Given the description of an element on the screen output the (x, y) to click on. 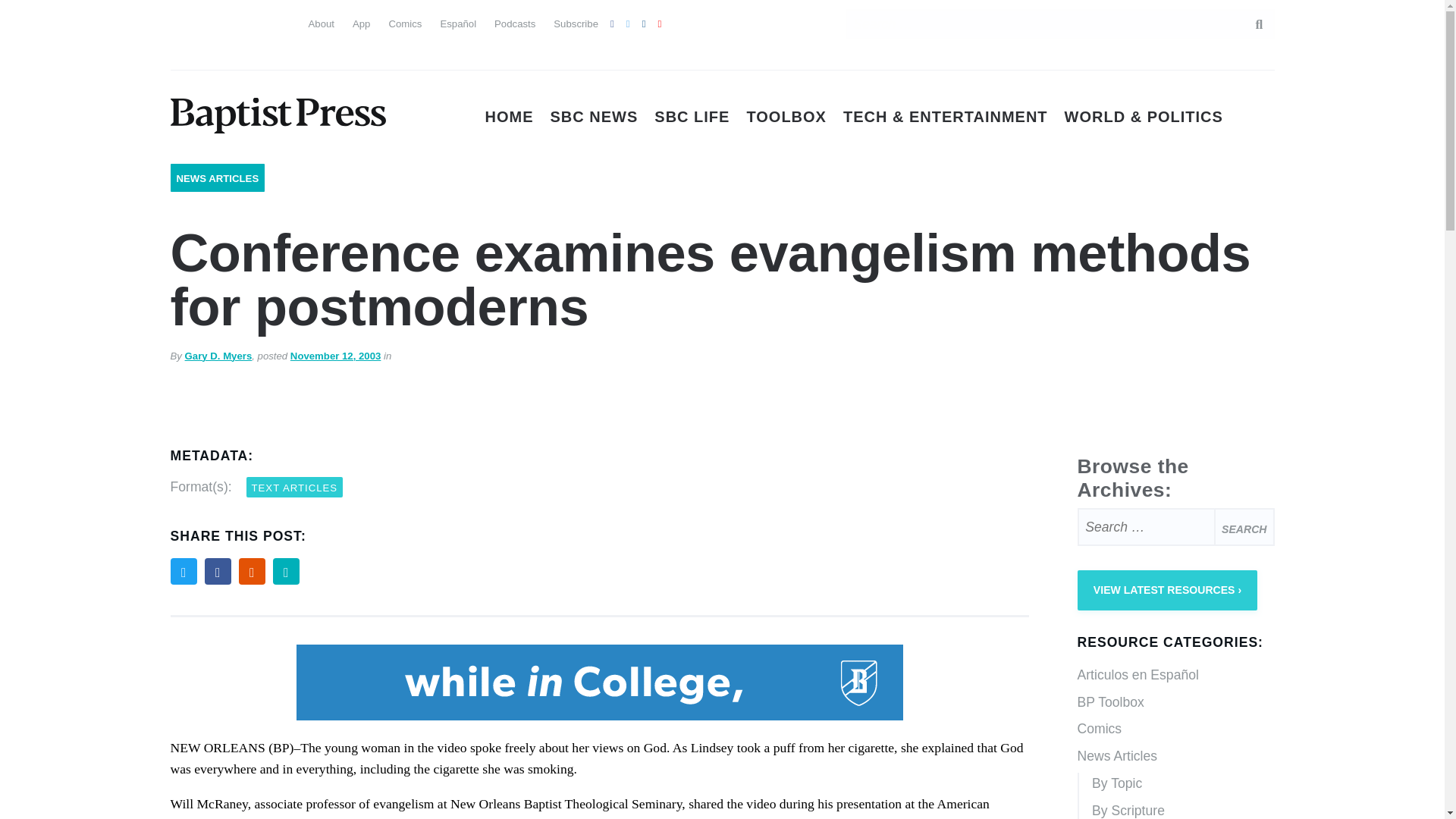
TOOLBOX (786, 116)
November 12, 2003 (335, 355)
Search (1244, 526)
Search (1251, 24)
French (263, 21)
TEXT ARTICLES (294, 486)
VIEW LATEST RESOURCES (1167, 590)
Gary D. Myers (217, 355)
English (182, 21)
NEWS ARTICLES (217, 178)
